Given the description of an element on the screen output the (x, y) to click on. 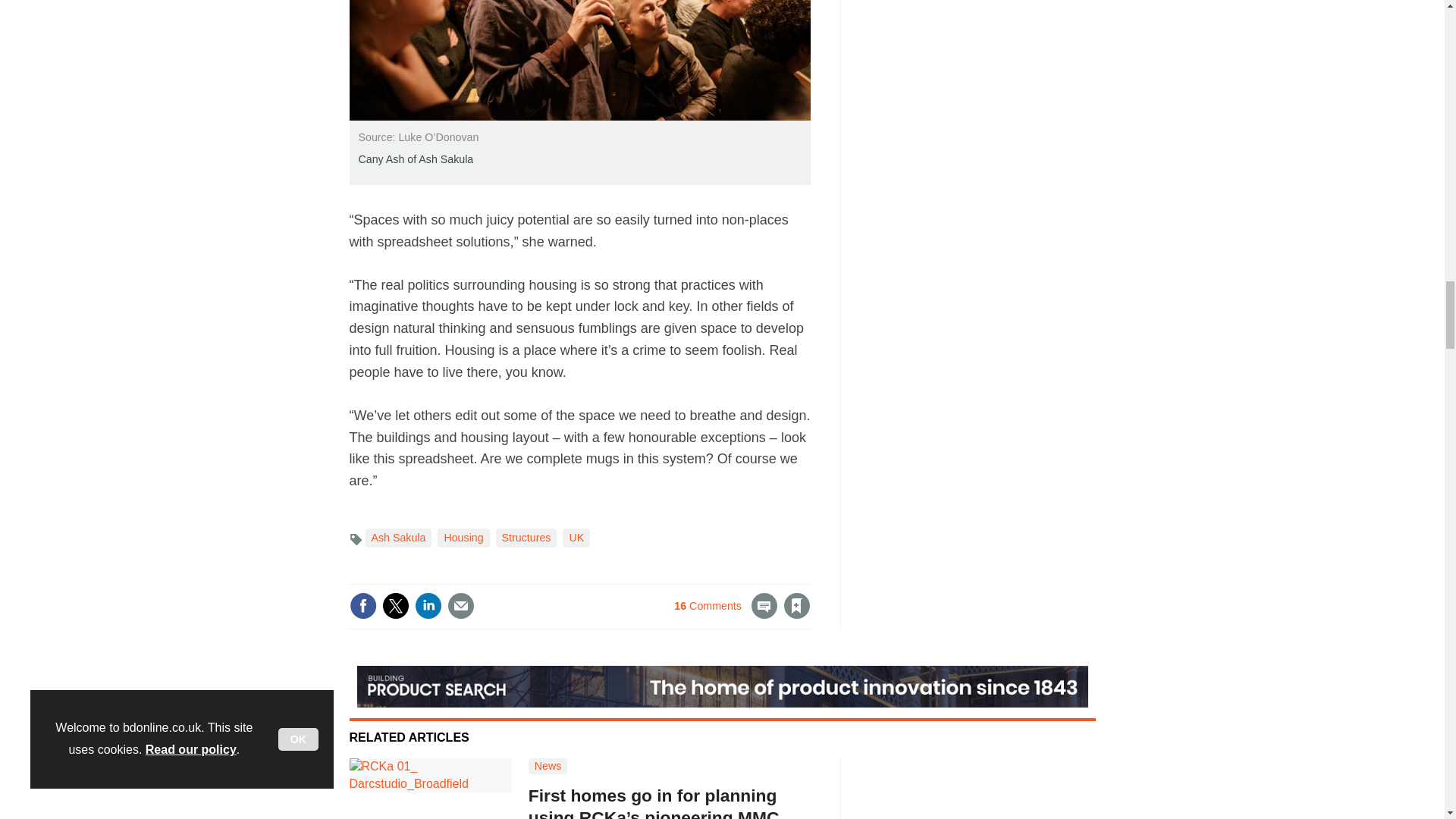
Share this on Linked in (427, 605)
Share this on Twitter (395, 605)
Share this on Facebook (362, 605)
16 Comments (725, 614)
Email this article (460, 605)
